Given the description of an element on the screen output the (x, y) to click on. 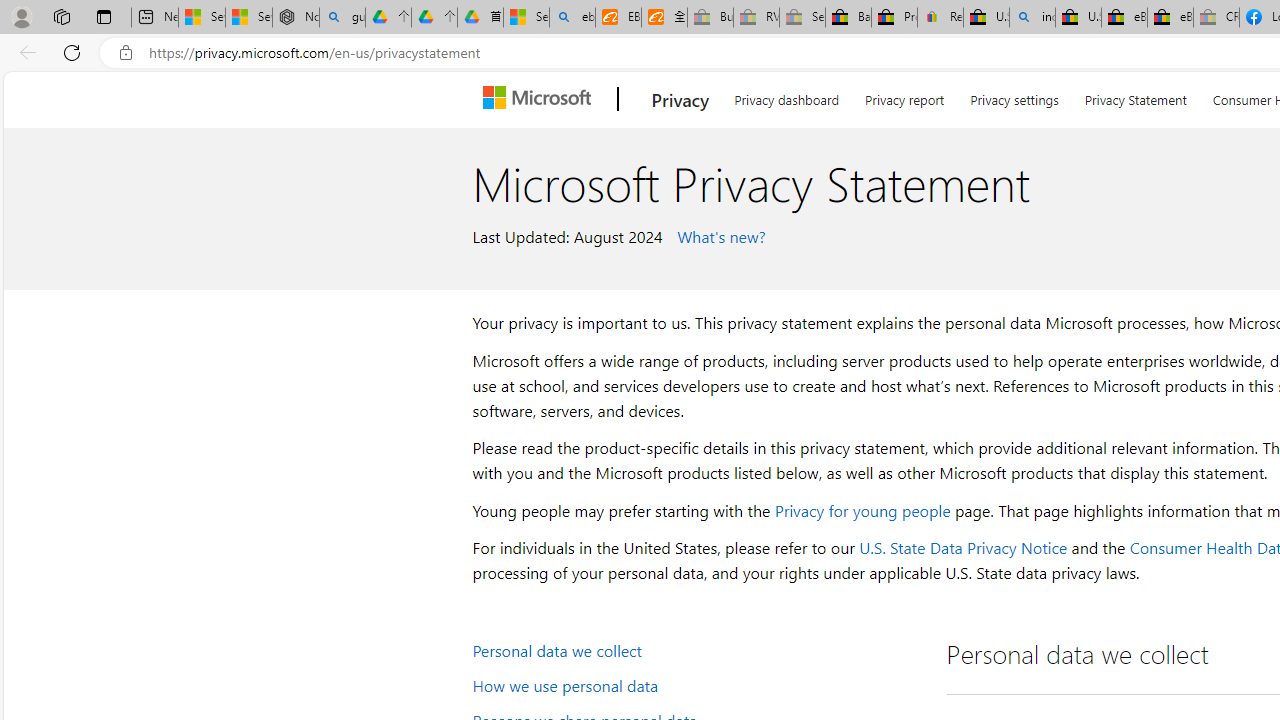
Privacy settings (1014, 96)
Privacy dashboard (786, 96)
Tab actions menu (104, 16)
Workspaces (61, 16)
Privacy (680, 99)
Privacy for young people (862, 509)
 What's new? (718, 235)
Register: Create a personal eBay account (939, 17)
guge yunpan - Search (342, 17)
Personal data we collect (696, 650)
U.S. State Privacy Disclosures - eBay Inc. (1078, 17)
View site information (125, 53)
